Given the description of an element on the screen output the (x, y) to click on. 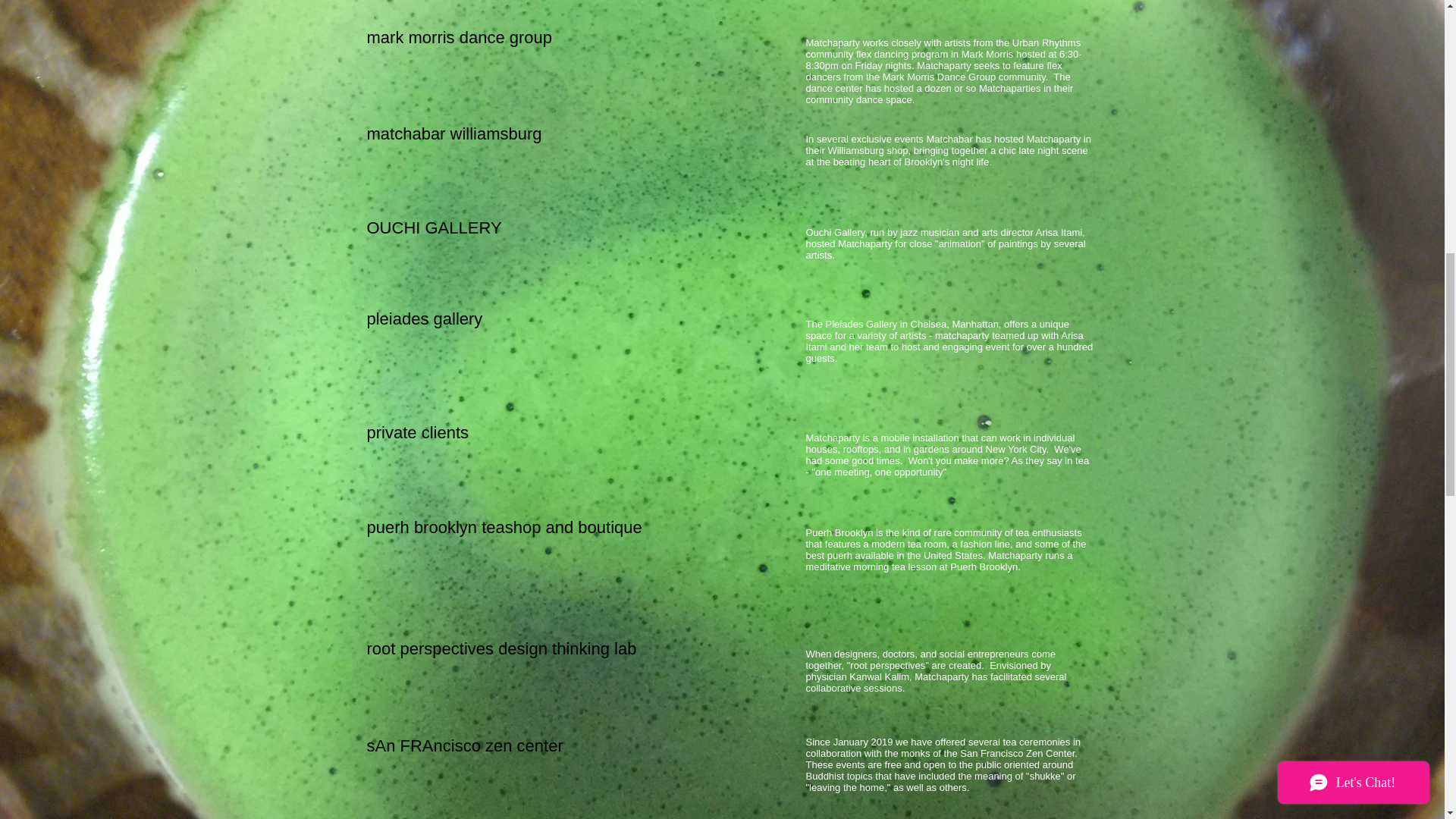
sAn FRAncisco zen center (464, 745)
matchabar williamsburg (453, 133)
OUCHI GALLERY (434, 227)
puerh brooklyn teashop and boutique (504, 527)
pleiades gallery (424, 318)
mark morris dance group (459, 36)
